Given the description of an element on the screen output the (x, y) to click on. 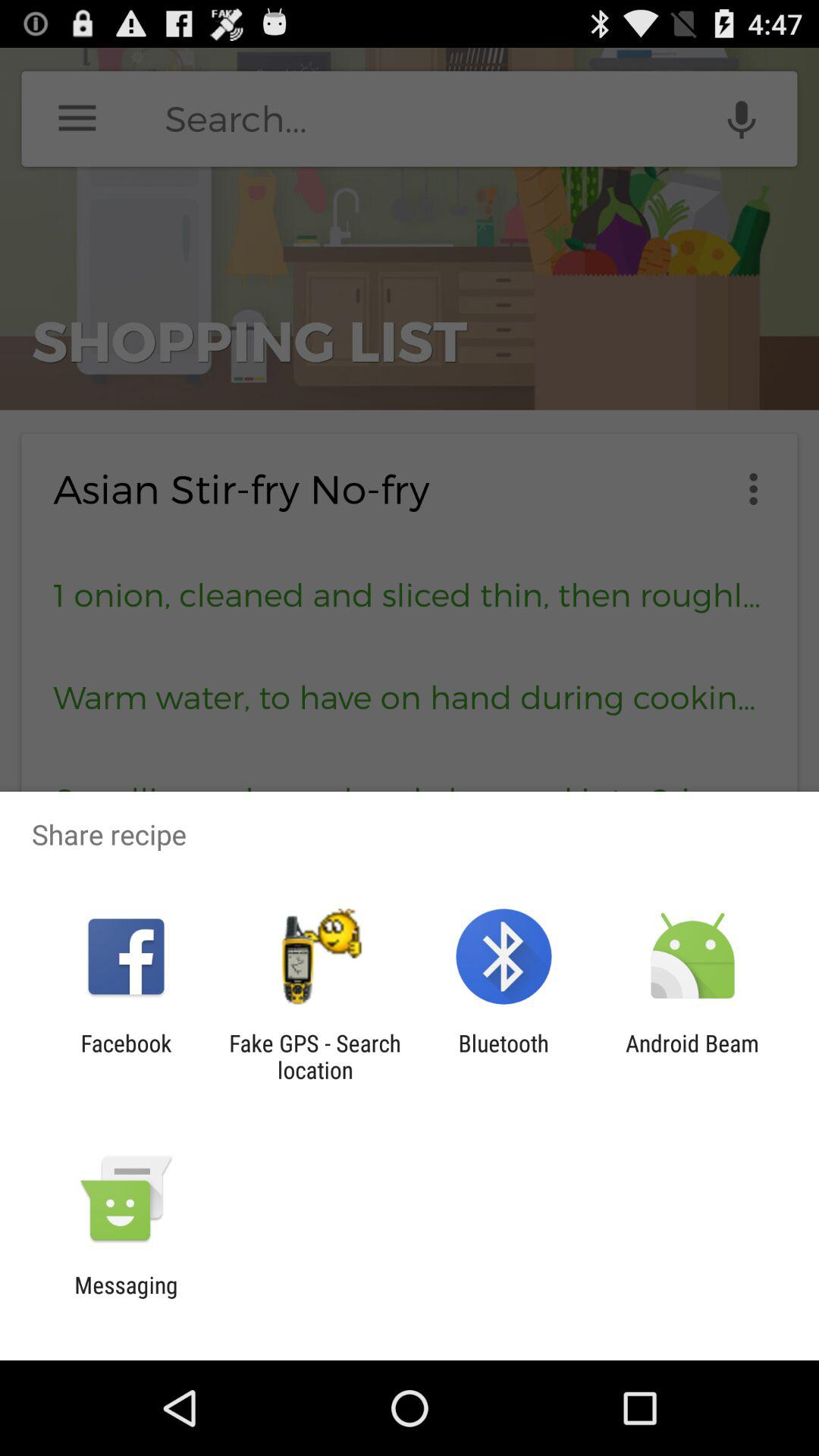
click item to the left of the android beam app (503, 1056)
